Given the description of an element on the screen output the (x, y) to click on. 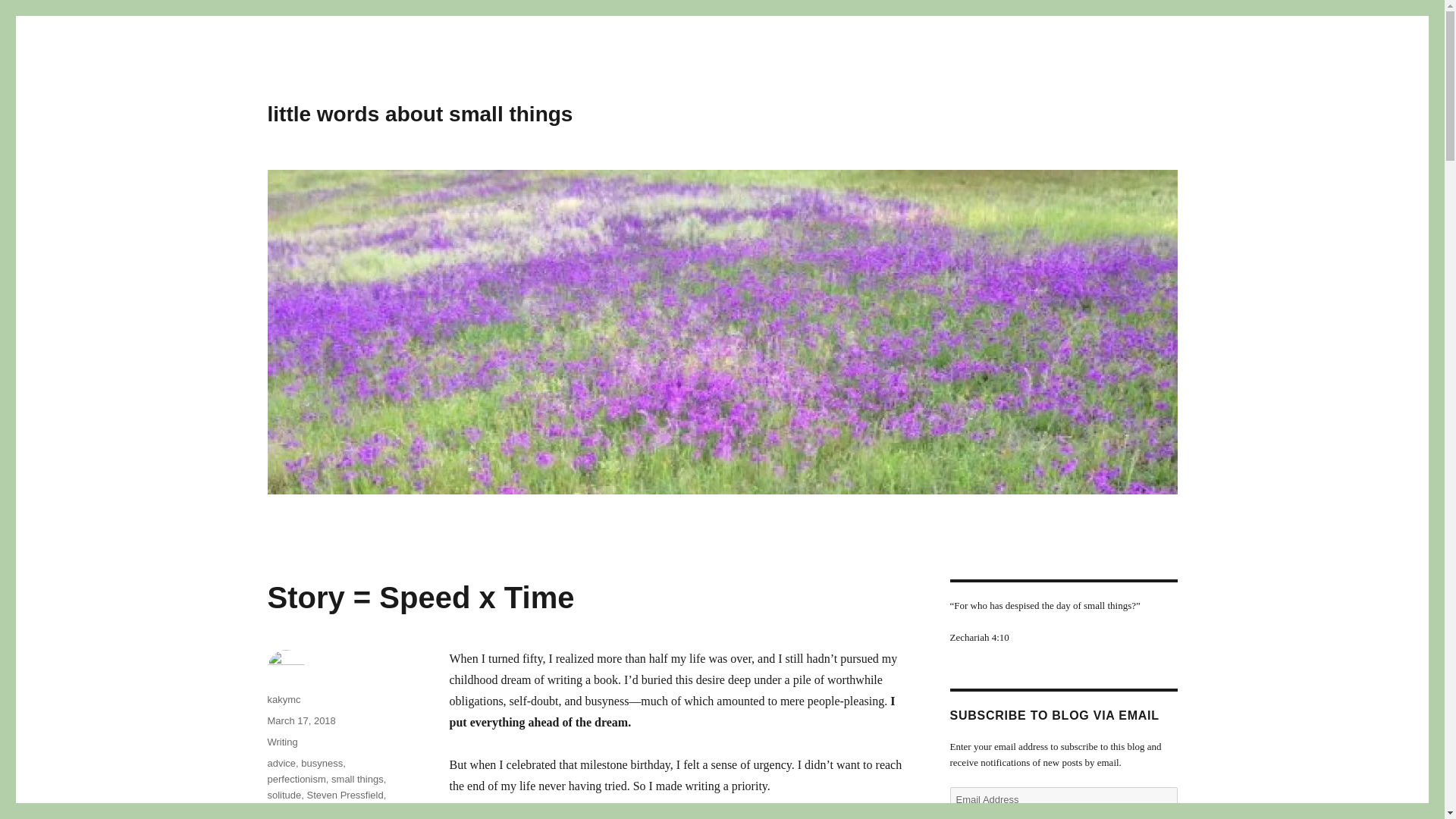
kakymc (282, 699)
busyness (321, 763)
little words about small things (419, 114)
small things (357, 778)
advice (280, 763)
Writing (281, 741)
solitude (283, 794)
Steven Pressfield (345, 794)
time (275, 810)
March 17, 2018 (300, 720)
perfectionism (295, 778)
